Given the description of an element on the screen output the (x, y) to click on. 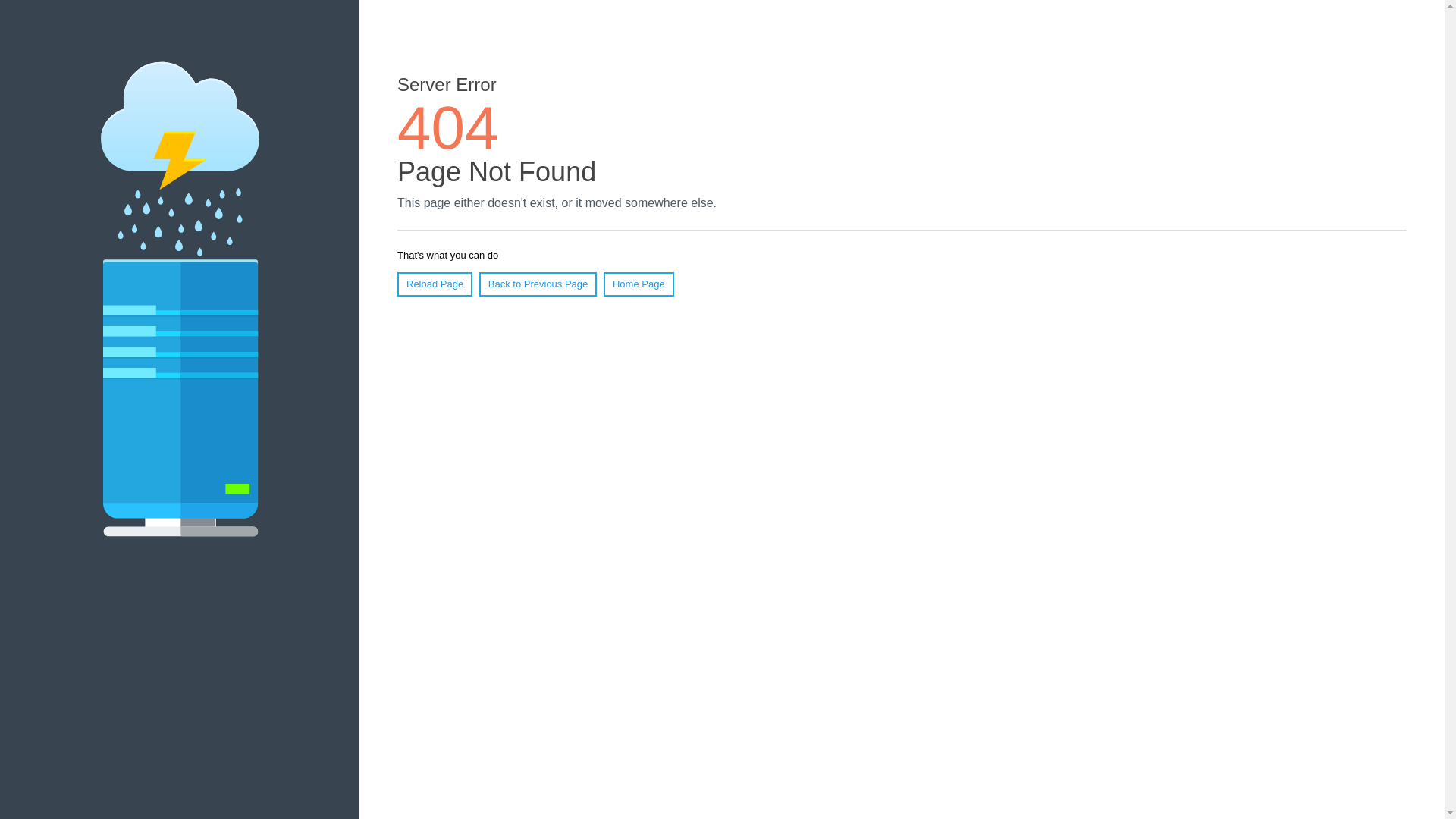
Reload Page Element type: text (434, 284)
Home Page Element type: text (638, 284)
Back to Previous Page Element type: text (538, 284)
